Given the description of an element on the screen output the (x, y) to click on. 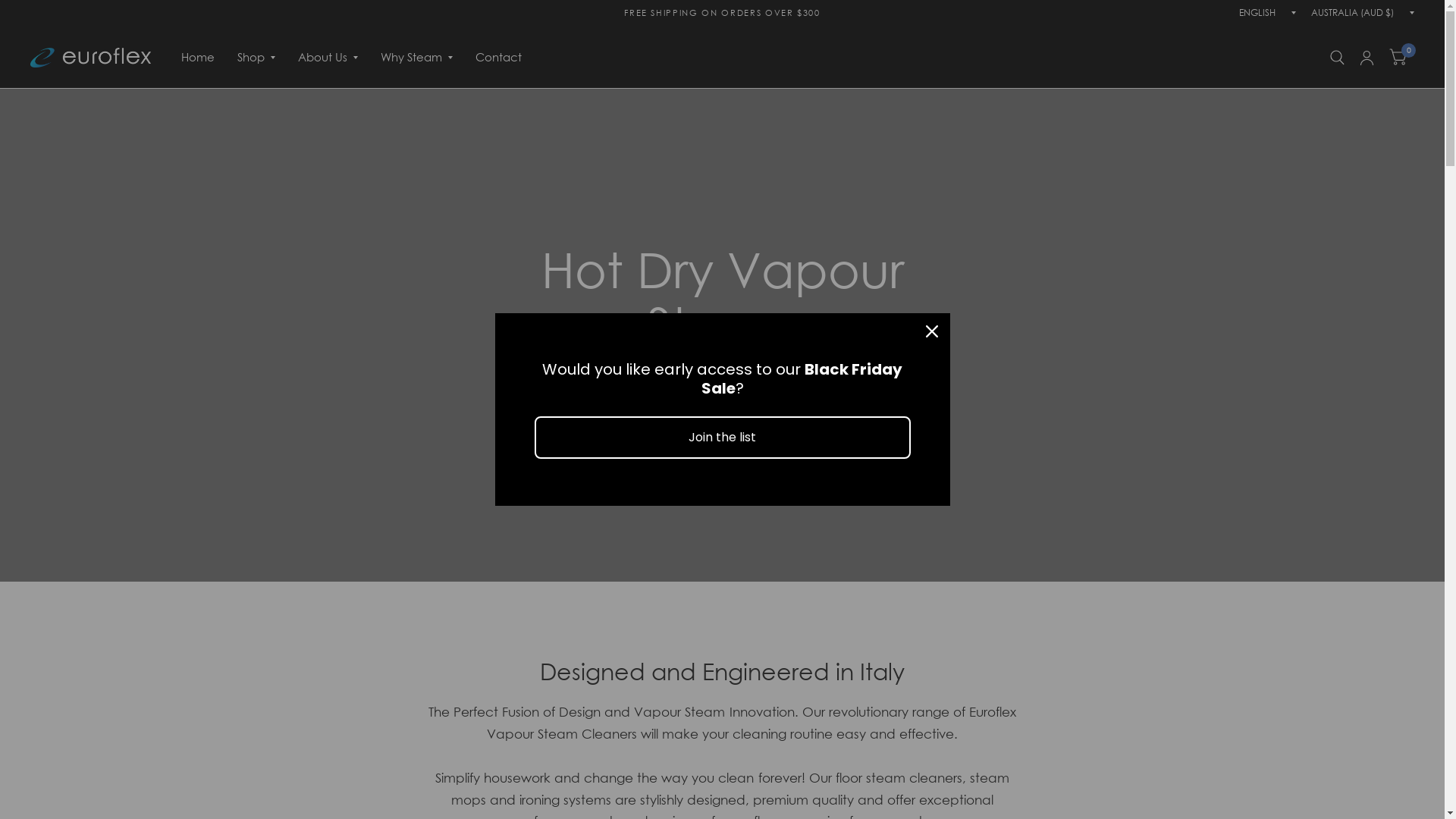
0 Element type: text (1397, 57)
Search Element type: hover (1337, 57)
Contact Element type: text (498, 57)
Home Element type: text (197, 57)
Why Steam Element type: text (416, 57)
My Account Element type: hover (1366, 57)
Shop Element type: text (256, 57)
About Us Element type: text (327, 57)
Join the list Element type: text (721, 437)
